Given the description of an element on the screen output the (x, y) to click on. 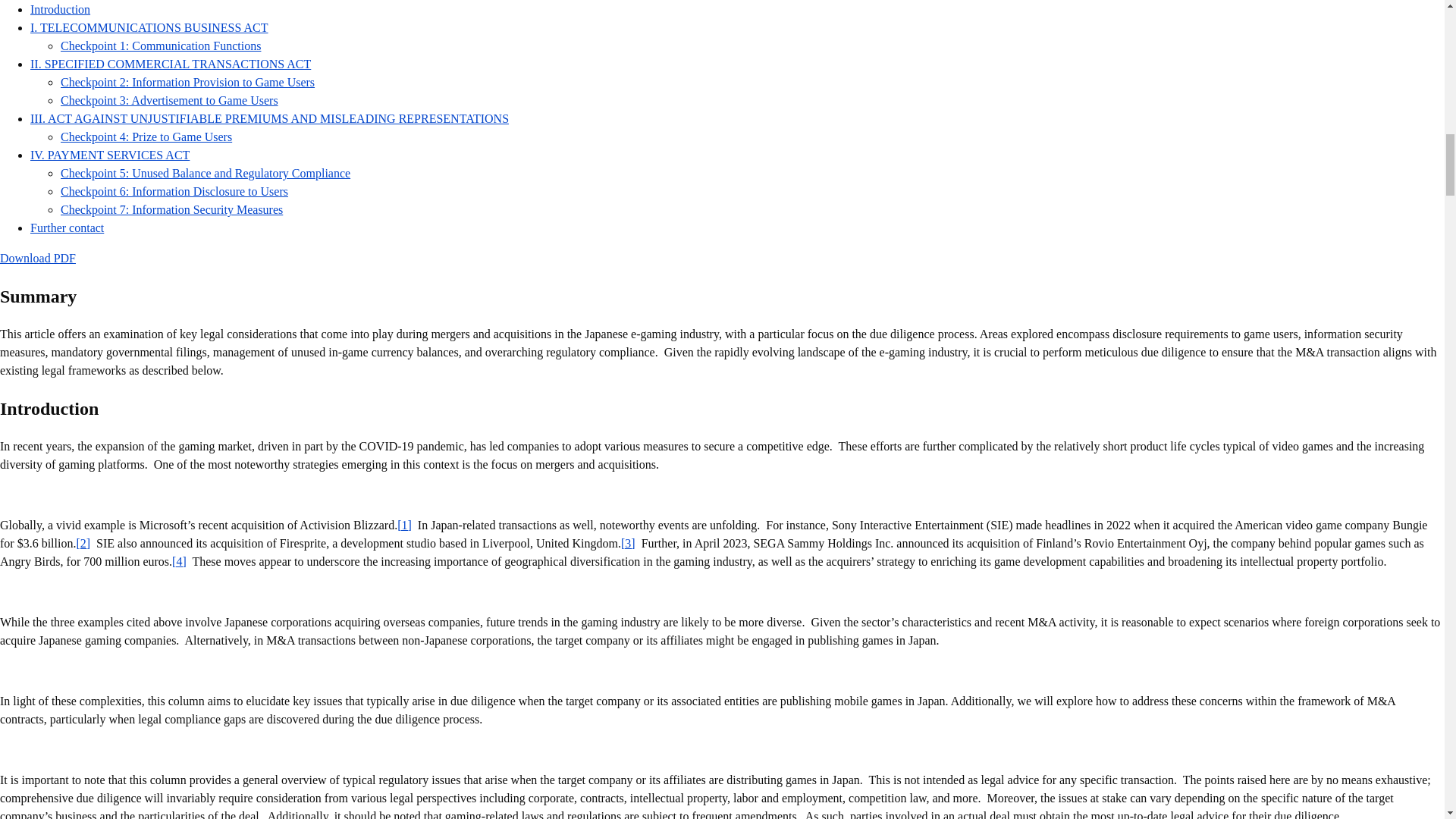
Introduction (60, 9)
Checkpoint 2: Information Provision to Game Users (187, 82)
I. TELECOMMUNICATIONS BUSINESS ACT (148, 27)
Checkpoint 1: Communication Functions (160, 45)
II. SPECIFIED COMMERCIAL TRANSACTIONS ACT (170, 63)
Checkpoint 4: Prize to Game Users (146, 136)
Checkpoint 3: Advertisement to Game Users (169, 100)
